Given the description of an element on the screen output the (x, y) to click on. 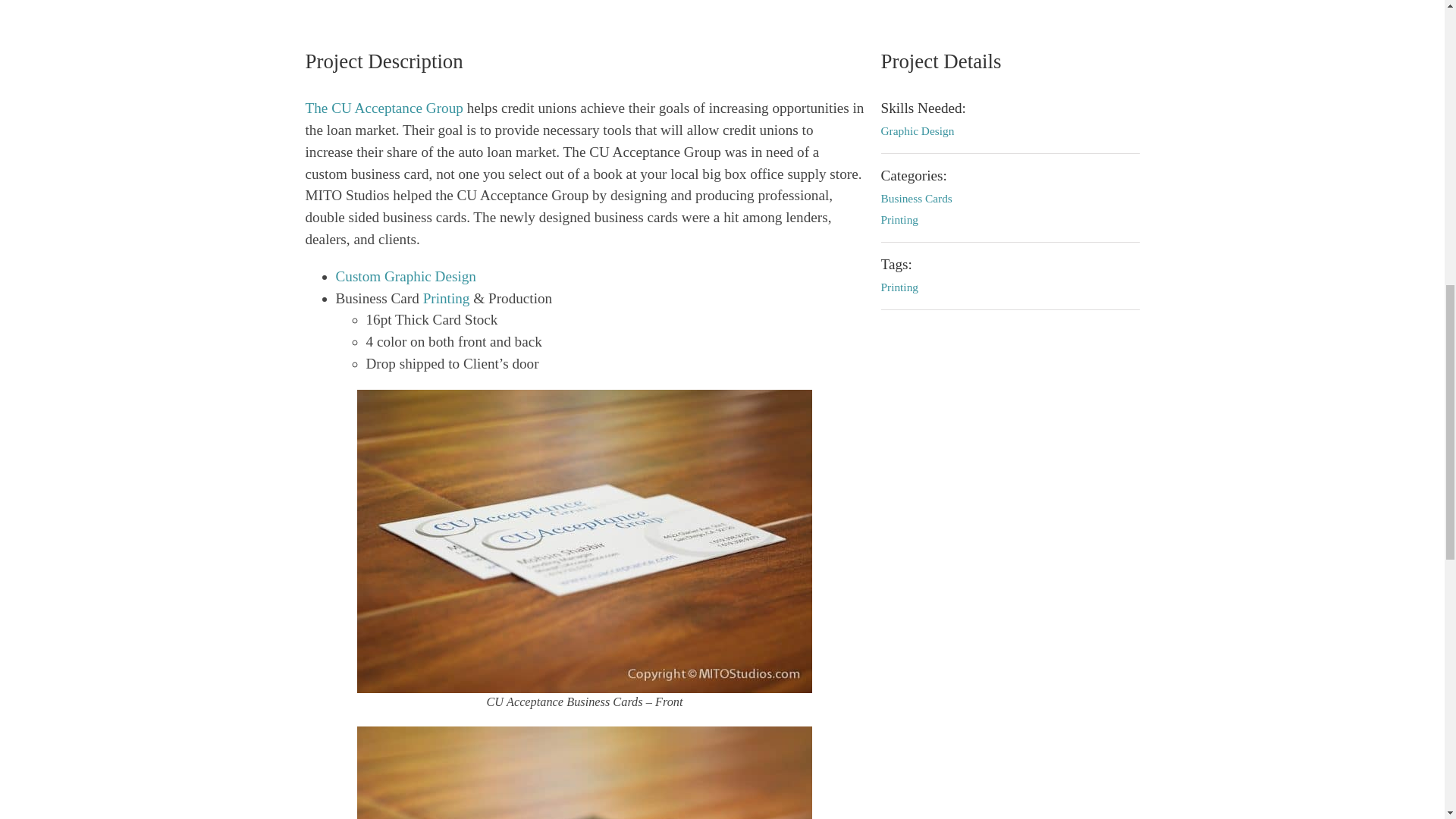
CU-Acceptance-Business-Cards (584, 772)
CU Acceptance Group (383, 107)
Printing (446, 298)
Business Cards (405, 276)
